Given the description of an element on the screen output the (x, y) to click on. 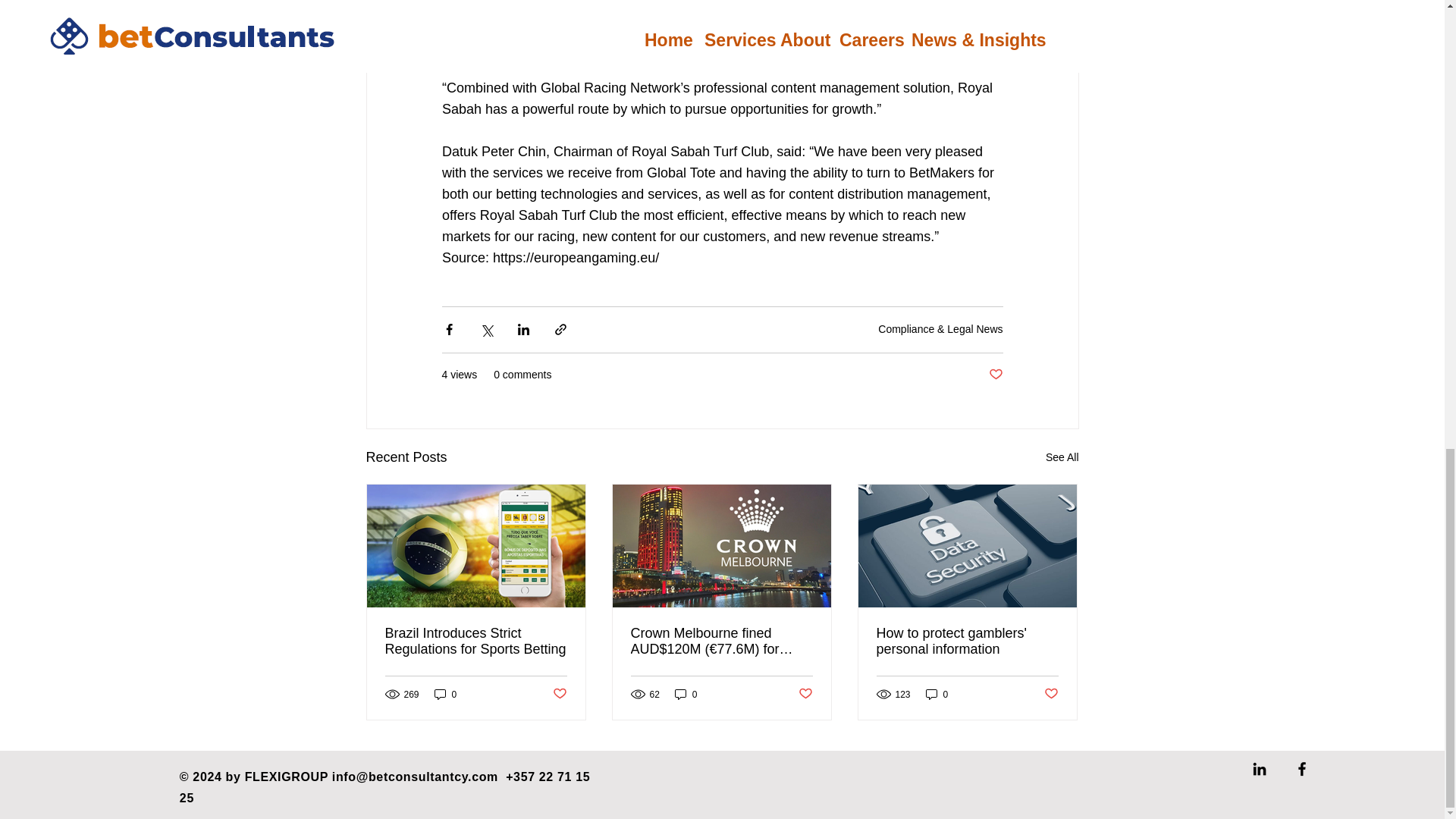
Brazil Introduces Strict Regulations for Sports Betting (476, 641)
Post not marked as liked (558, 693)
0 (937, 694)
Post not marked as liked (1050, 693)
0 (685, 694)
Post not marked as liked (804, 693)
See All (1061, 457)
Post not marked as liked (995, 374)
0 (445, 694)
How to protect gamblers' personal information (967, 641)
